Given the description of an element on the screen output the (x, y) to click on. 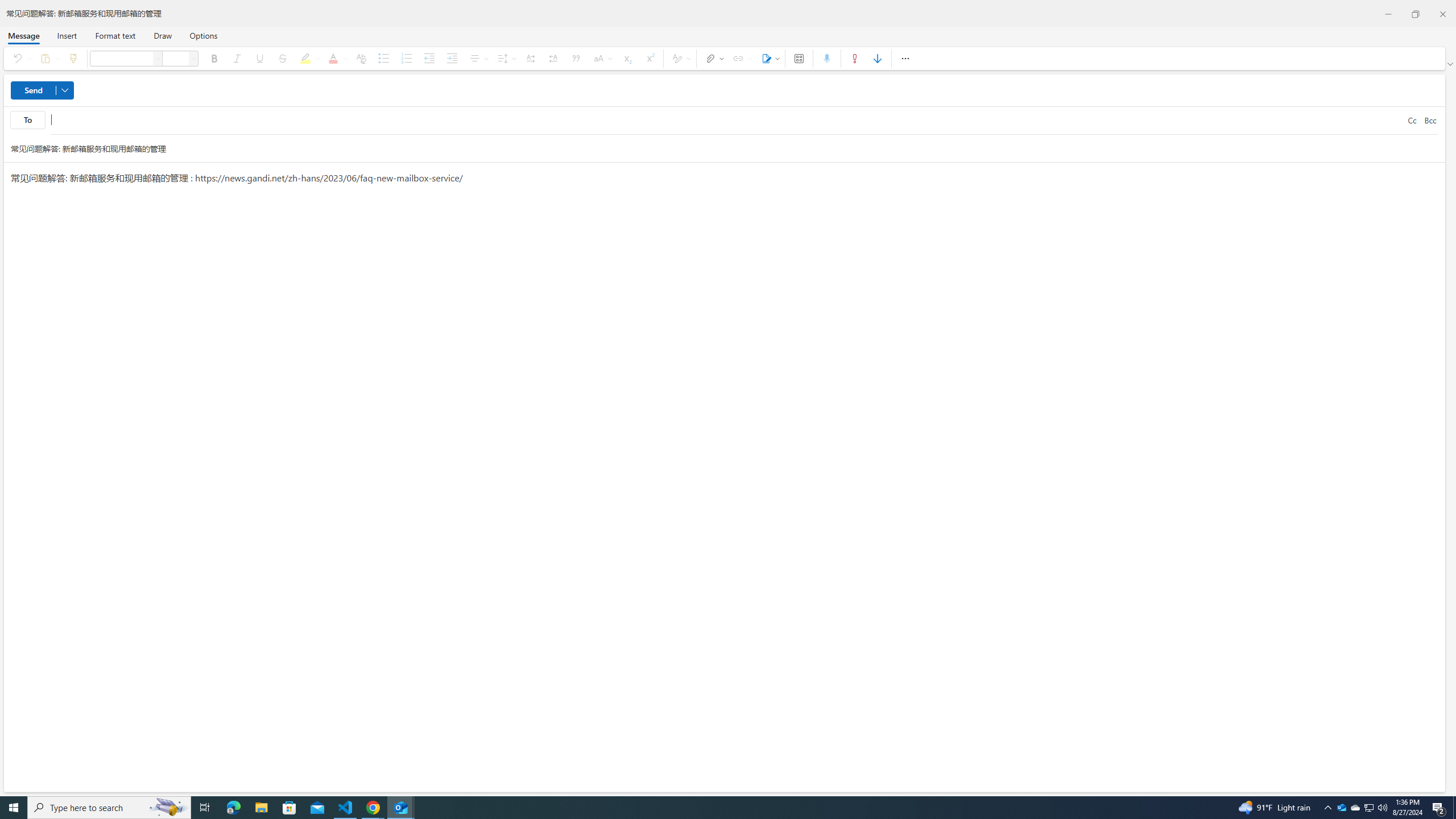
Undo (19, 58)
Superscript (649, 58)
Signature (768, 58)
Format text (114, 35)
Styles (679, 58)
Decrease indent (429, 58)
Message body, press Alt+F10 to exit (724, 476)
Spacing (505, 58)
Increase indent (452, 58)
Font size (193, 58)
Add a subject (714, 148)
Bold (213, 58)
Change case (601, 58)
